Given the description of an element on the screen output the (x, y) to click on. 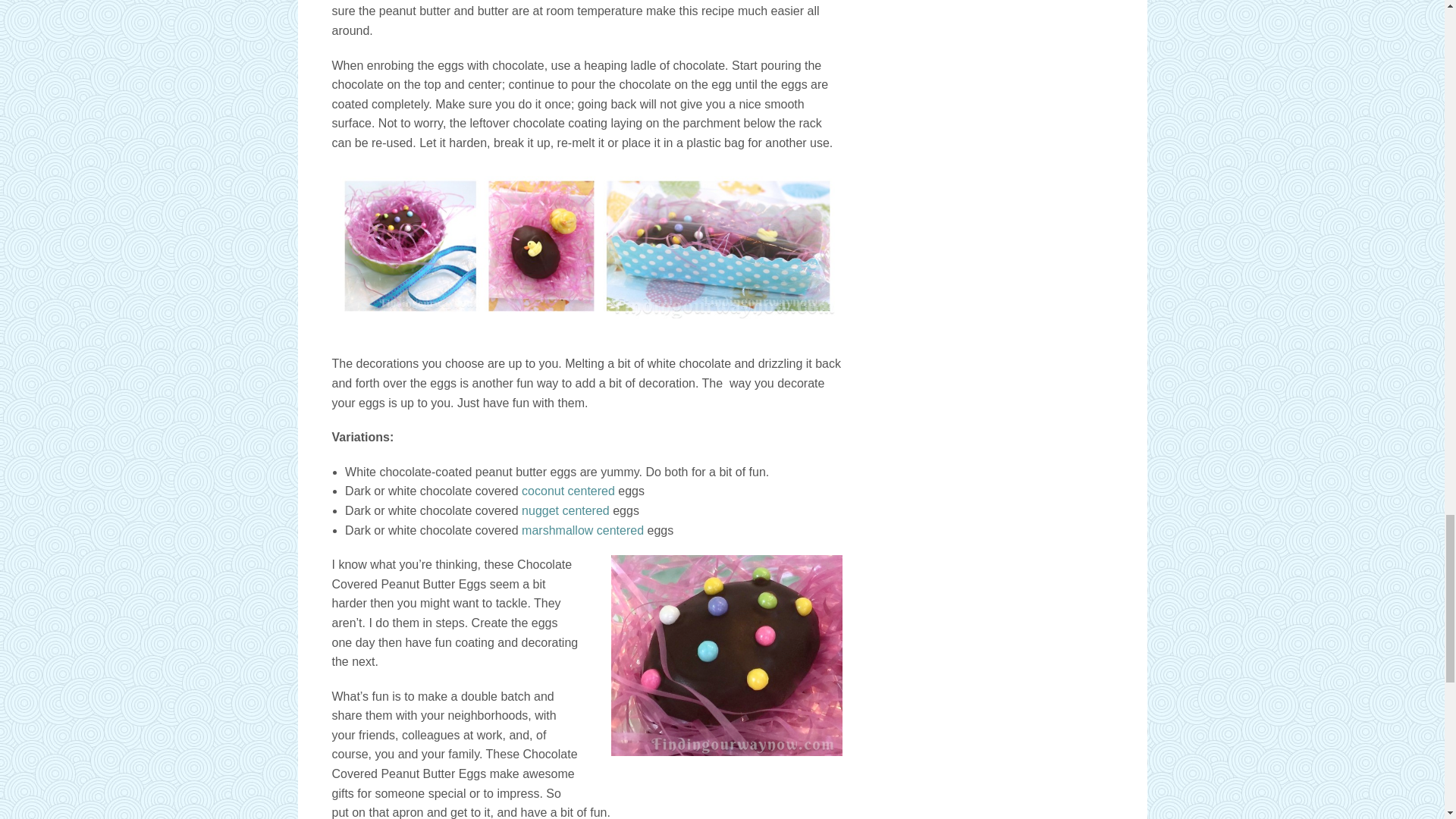
Valentines Gifts From The Kitchen: Recipes (565, 510)
Chocolate Covered Peanut Butter Eggs, findingourwaynow.com (587, 246)
Chocolate Covered Peanut Butter Eggs , findingourwaynow.com (727, 655)
